Given the description of an element on the screen output the (x, y) to click on. 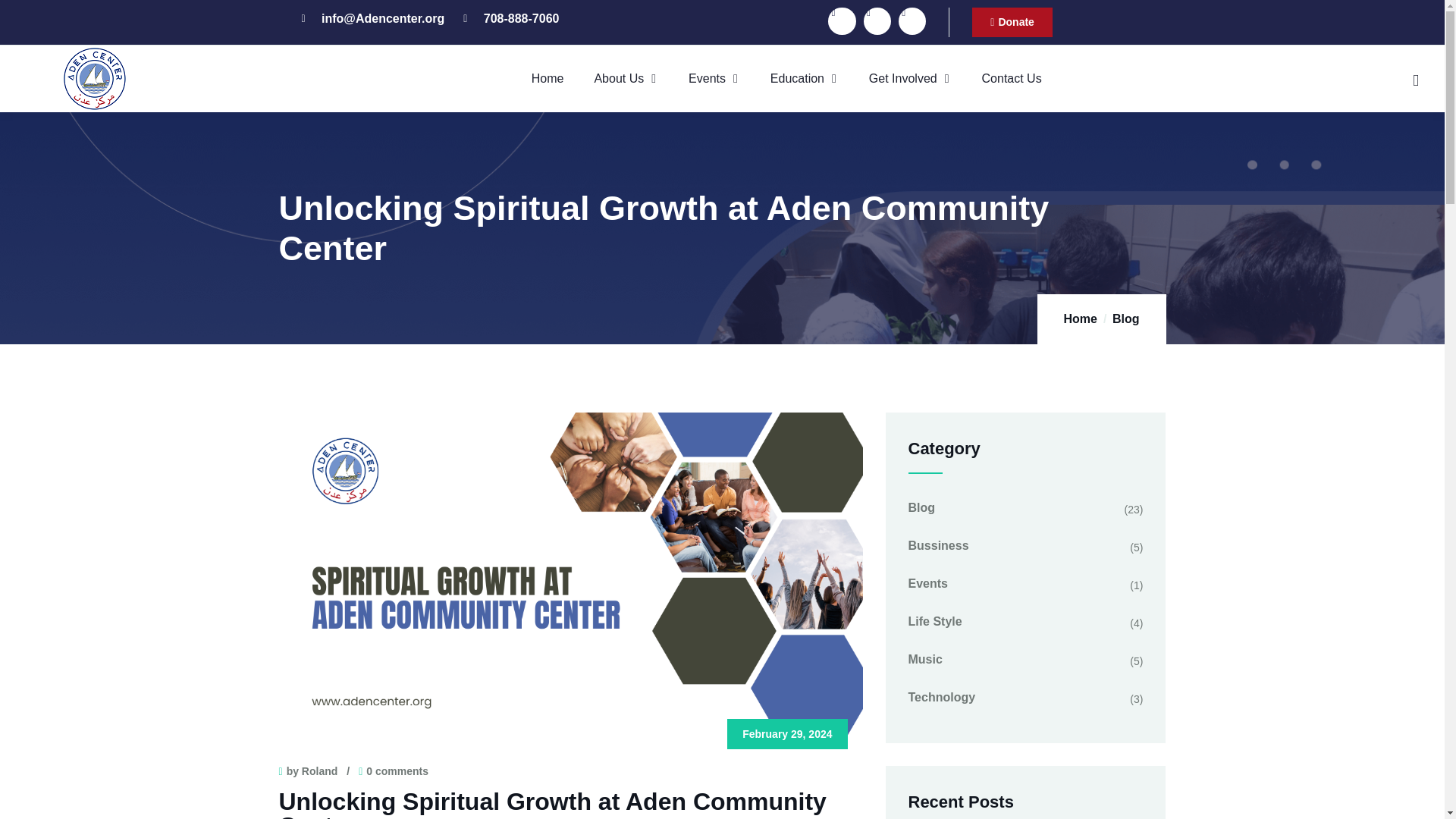
Get Involved (909, 78)
Home (1079, 318)
Education (804, 78)
Donate (1012, 21)
Events (713, 78)
Contact Us (1011, 78)
About Us (625, 78)
Blog (1126, 318)
Home (94, 78)
Home (547, 78)
708-888-7060 (511, 18)
